Given the description of an element on the screen output the (x, y) to click on. 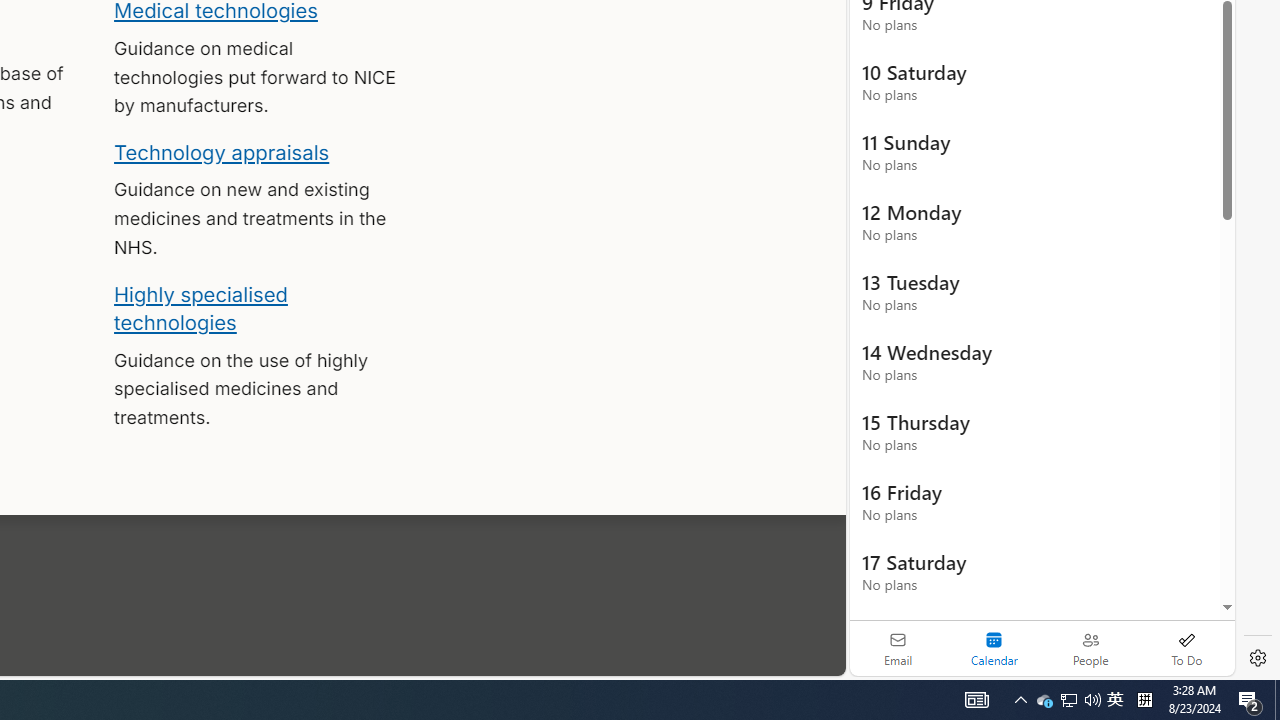
Highly specialised technologies (200, 308)
To Do (1186, 648)
Technology appraisals (221, 152)
Email (898, 648)
People (1090, 648)
Selected calendar module. Date today is 22 (994, 648)
